Given the description of an element on the screen output the (x, y) to click on. 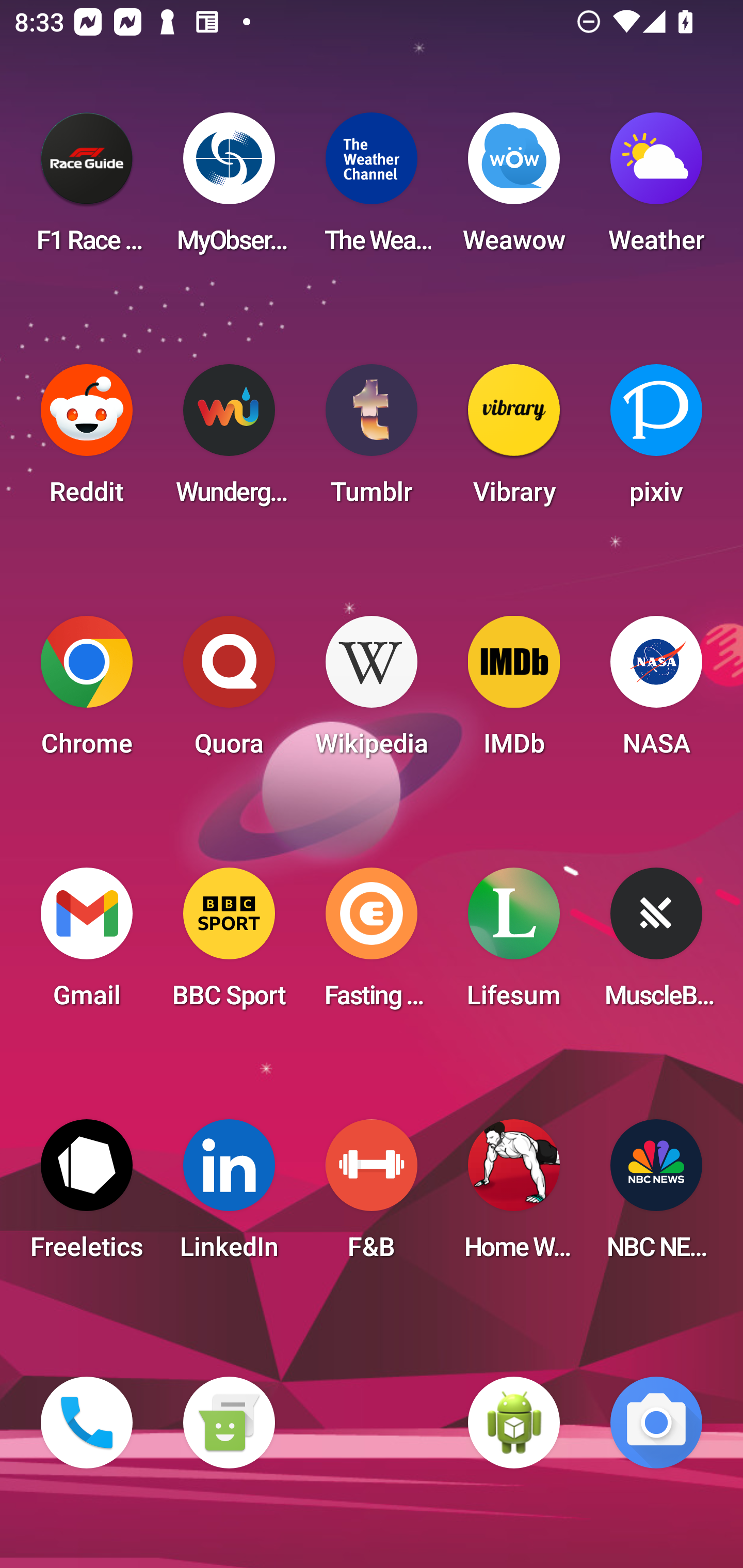
F1 Race Guide (86, 188)
MyObservatory (228, 188)
The Weather Channel (371, 188)
Weawow (513, 188)
Weather (656, 188)
Reddit (86, 440)
Wunderground (228, 440)
Tumblr (371, 440)
Vibrary (513, 440)
pixiv (656, 440)
Chrome (86, 692)
Quora (228, 692)
Wikipedia (371, 692)
IMDb (513, 692)
NASA (656, 692)
Gmail (86, 943)
BBC Sport (228, 943)
Fasting Coach (371, 943)
Lifesum (513, 943)
MuscleBooster (656, 943)
Freeletics (86, 1195)
LinkedIn (228, 1195)
F&B (371, 1195)
Home Workout (513, 1195)
NBC NEWS (656, 1195)
Phone (86, 1422)
Messaging (228, 1422)
WebView Browser Tester (513, 1422)
Camera (656, 1422)
